Given the description of an element on the screen output the (x, y) to click on. 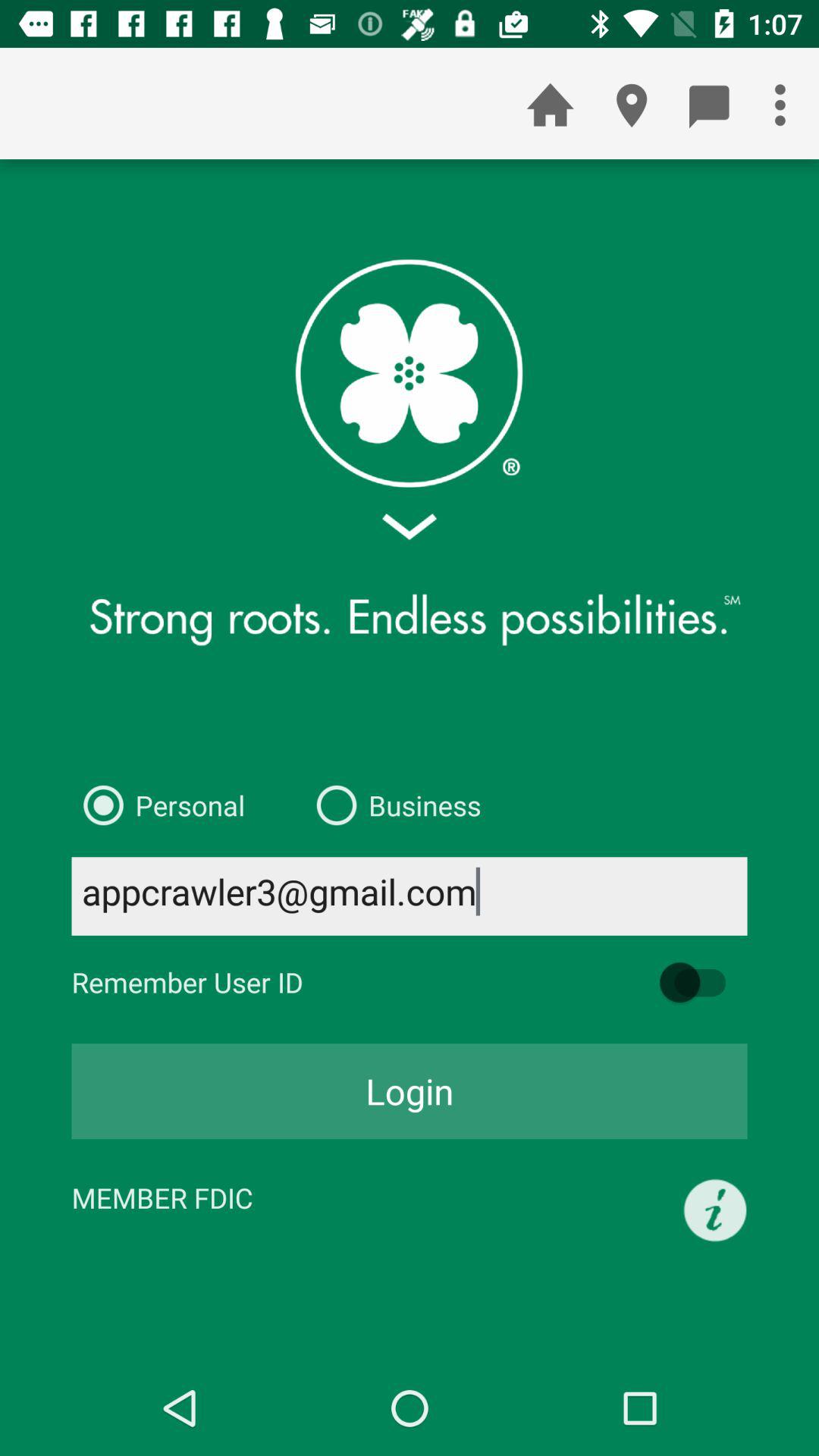
click the icon to the right of the member fdic icon (715, 1210)
